Given the description of an element on the screen output the (x, y) to click on. 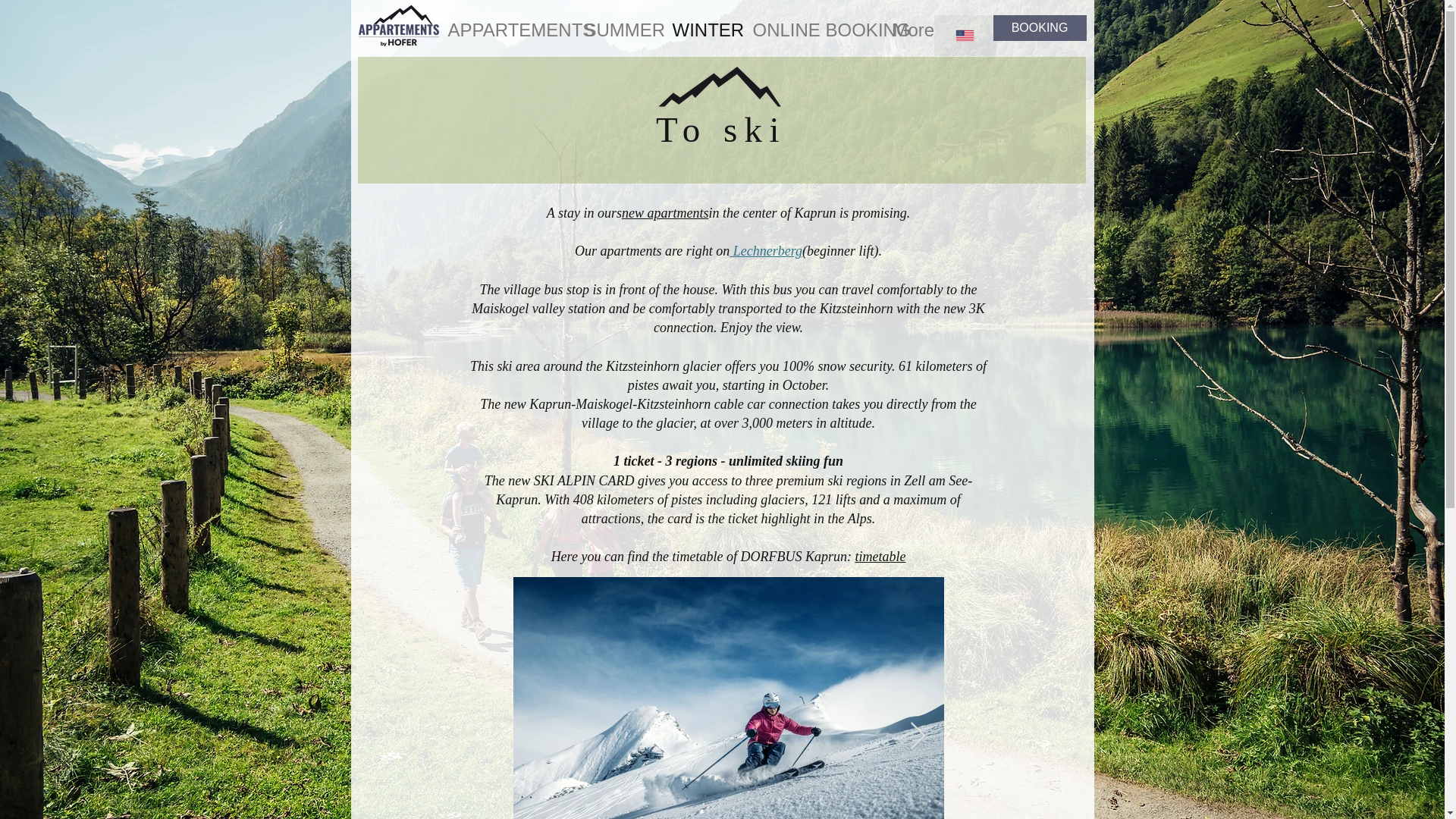
ONLINE BOOKING (809, 29)
SUMMER (615, 29)
new apartments (665, 212)
BOOKING (1039, 27)
Lechnerberg (765, 250)
APPARTEMENTS (504, 29)
WINTER (699, 29)
timetable (879, 556)
